Given the description of an element on the screen output the (x, y) to click on. 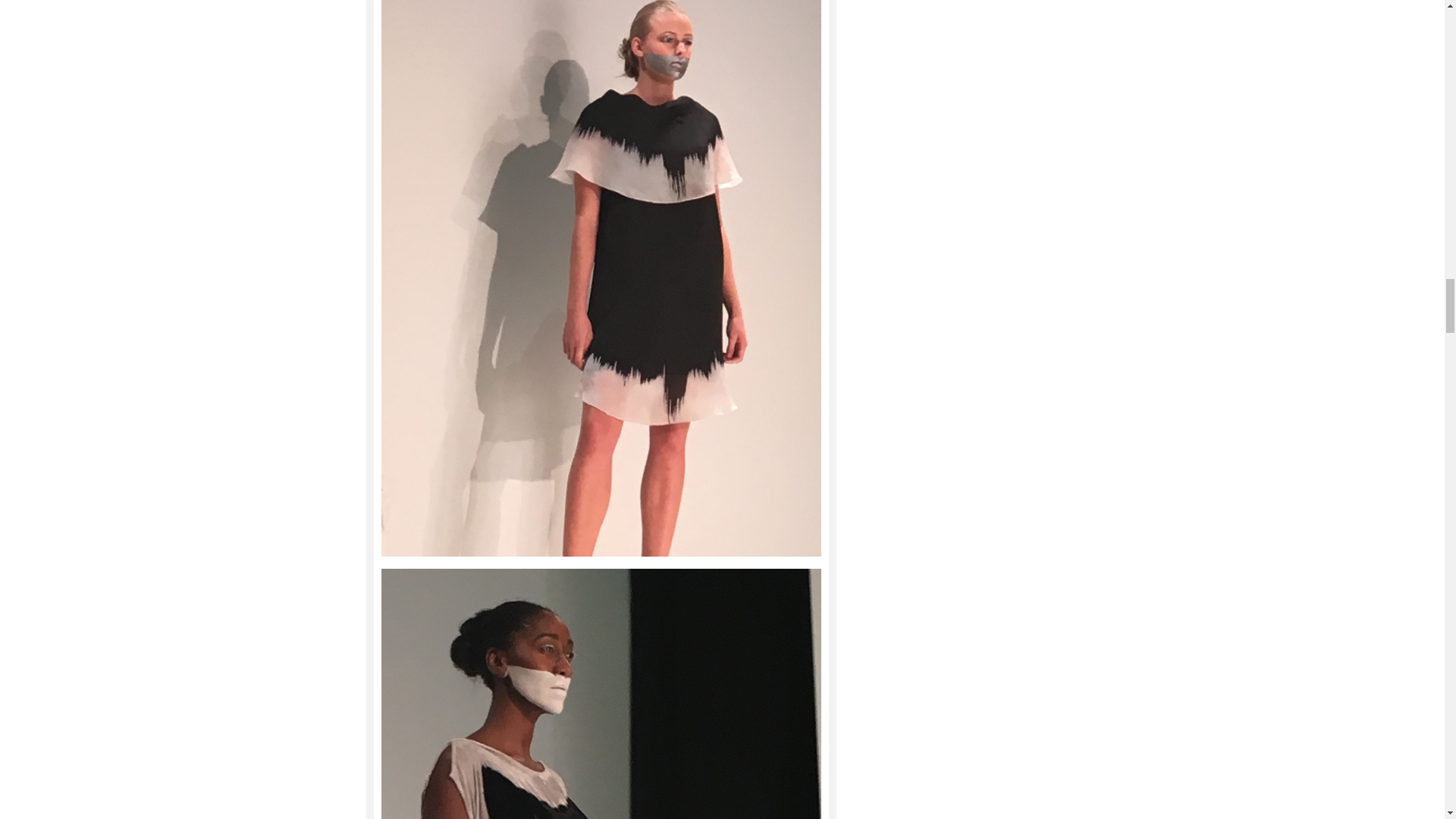
4-patricia-michaels-style-fashion-week-black-and-white-long (600, 693)
